Given the description of an element on the screen output the (x, y) to click on. 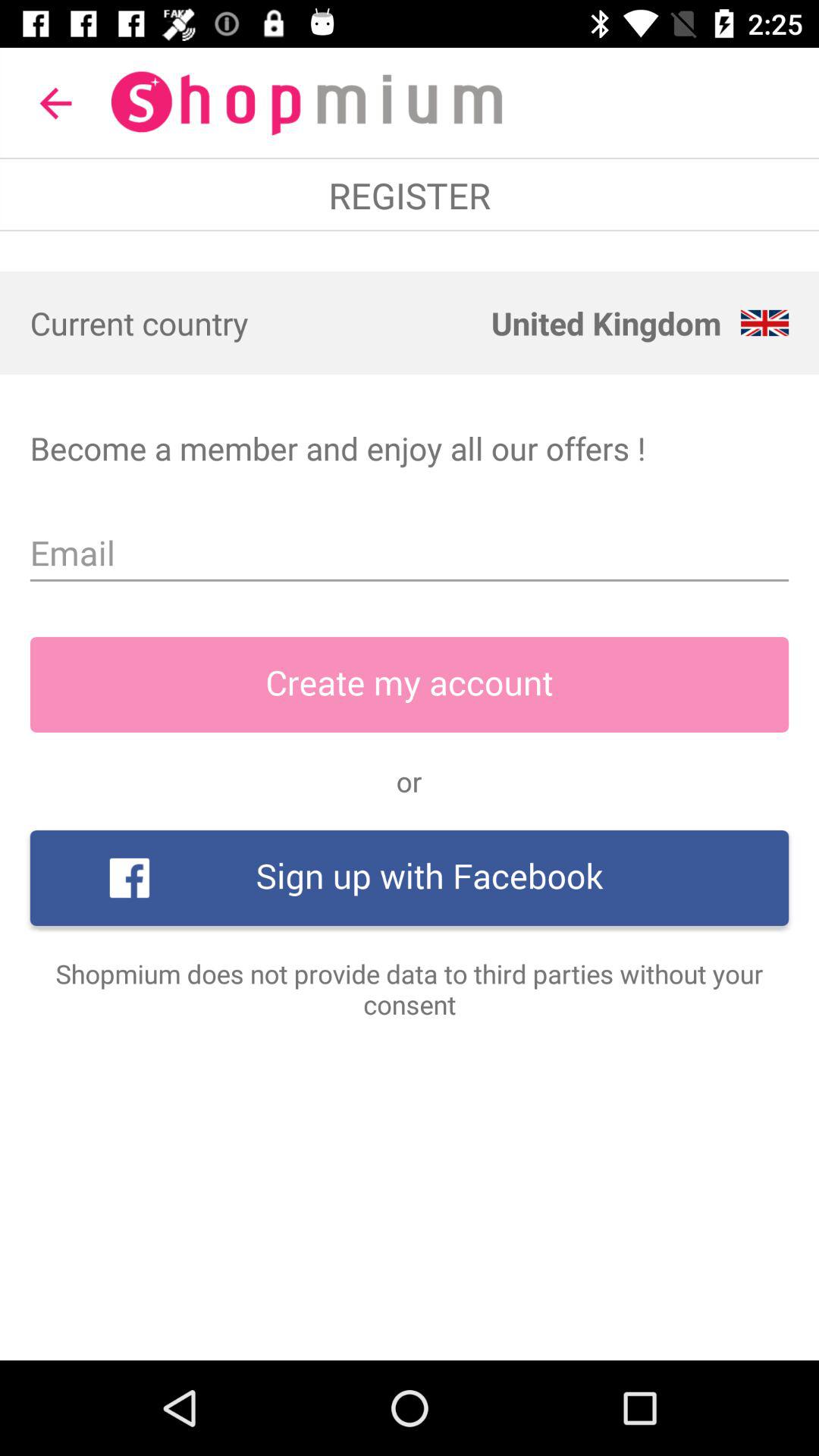
enter the email box (409, 553)
